Given the description of an element on the screen output the (x, y) to click on. 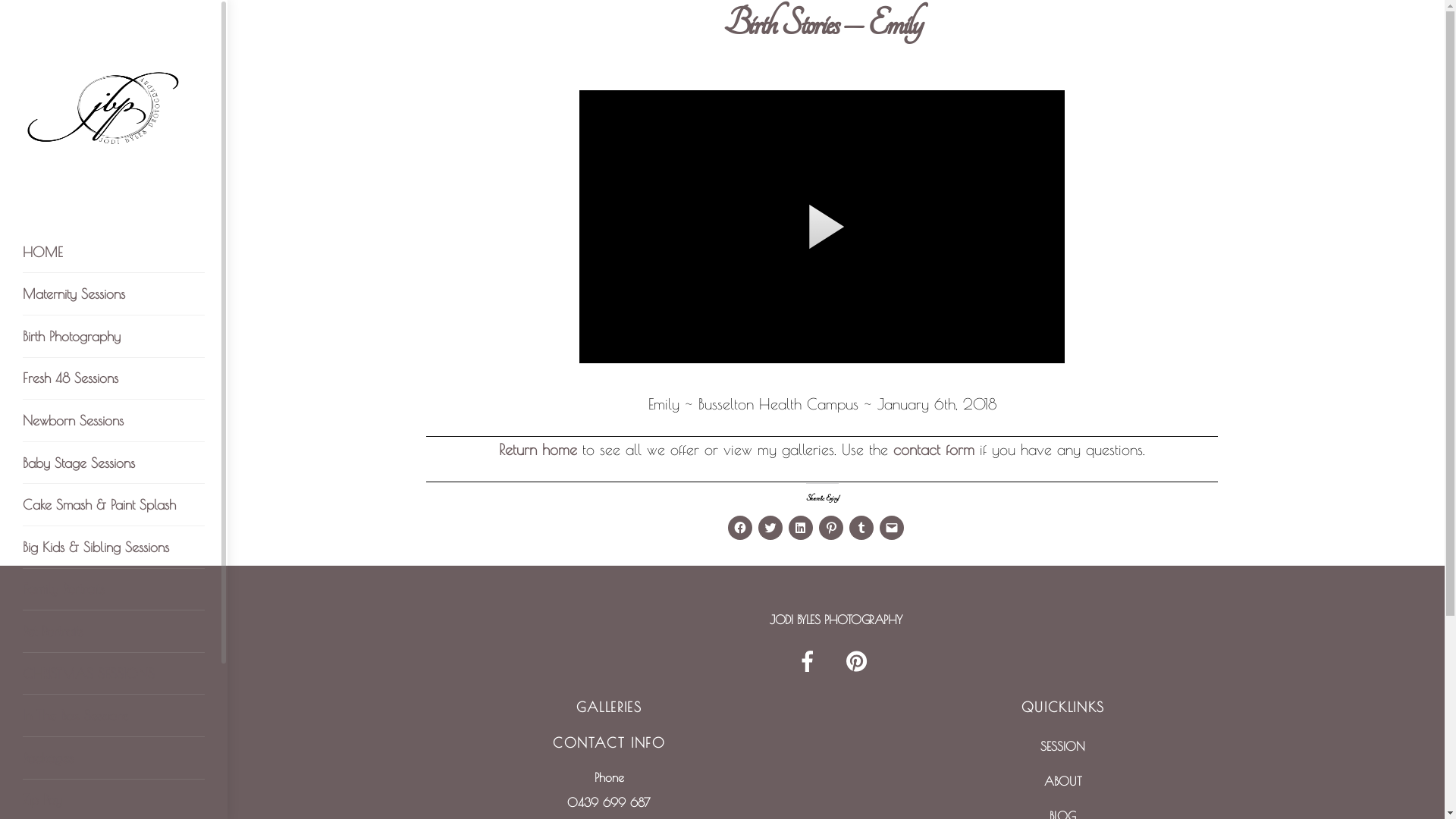
Jodi Byles Photography Element type: hover (113, 174)
Newborn Sessions Element type: text (113, 420)
Click to share on Facebook (Opens in new window) Element type: text (740, 527)
Click to share on Tumblr (Opens in new window) Element type: text (861, 527)
contact form Element type: text (933, 449)
Big Kids & Sibling Sessions Element type: text (113, 547)
HOME Element type: text (113, 252)
Click to share on LinkedIn (Opens in new window) Element type: text (800, 527)
Maternity Sessions Element type: text (113, 294)
Fresh 48 Sessions Element type: text (113, 378)
Pet Portraits Element type: text (113, 631)
ABOUT Element type: text (1063, 780)
Baby Stage Sessions Element type: text (113, 463)
CHRISTMAS SESSIONS Element type: text (113, 673)
Birth Photography Element type: text (113, 336)
0439 699 687 Element type: text (608, 802)
Cake Smash & Paint Splash Element type: text (113, 504)
Click to share on Twitter (Opens in new window) Element type: text (770, 527)
JODI BYLES PHOTOGRAPHY Element type: text (835, 619)
Click to share on Pinterest (Opens in new window) Element type: text (831, 527)
Click to email a link to a friend (Opens in new window) Element type: text (891, 527)
In The Box Sessions Element type: text (113, 715)
SESSION Element type: text (1062, 746)
Return home Element type: text (537, 449)
Video Player Element type: hover (821, 226)
Packages Element type: text (113, 758)
POSSIBLE NEW LOGO SQ C Element type: hover (113, 106)
Family Portraits Element type: text (113, 589)
